Given the description of an element on the screen output the (x, y) to click on. 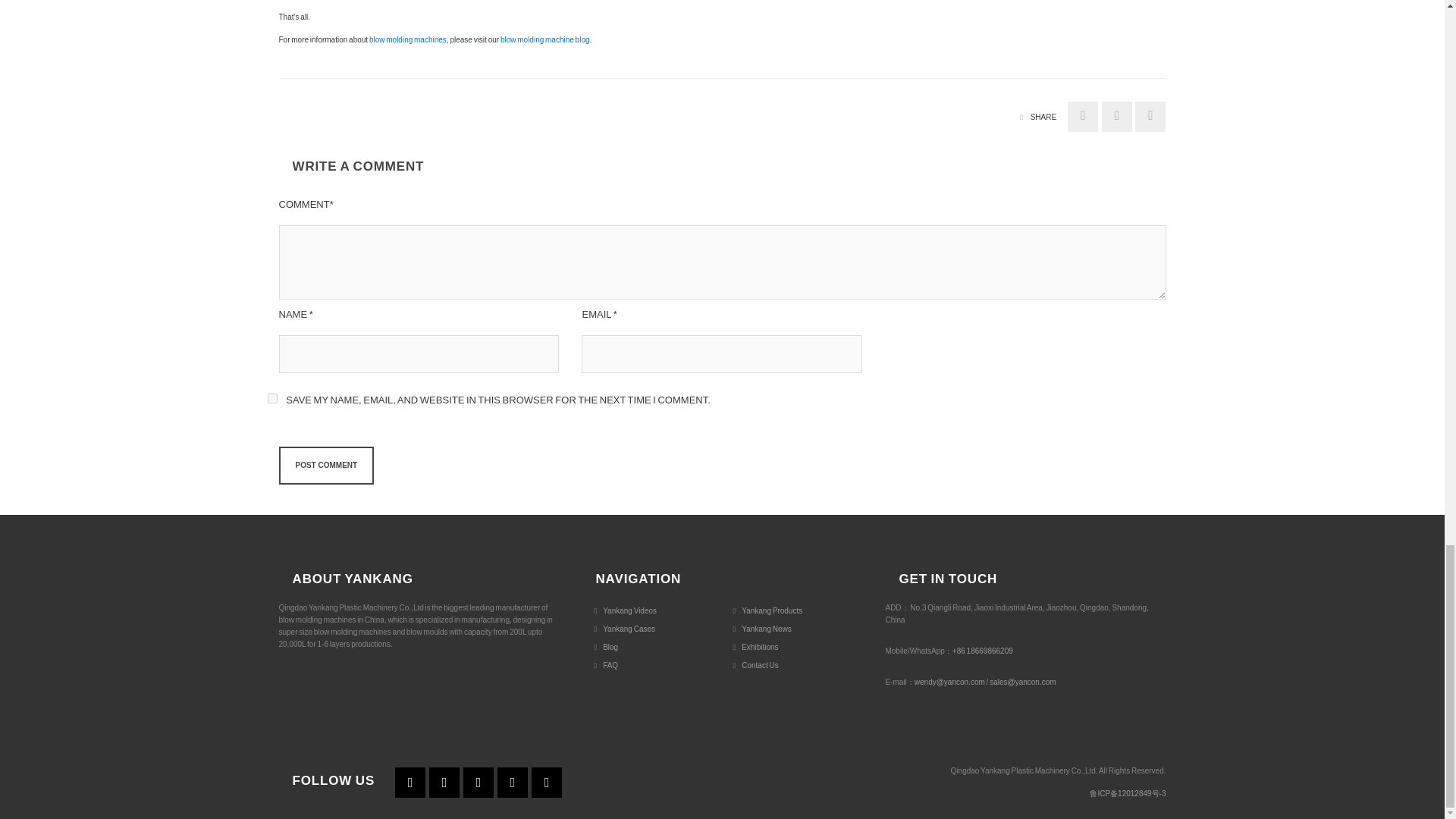
Post Comment (326, 465)
yes (271, 398)
